Given the description of an element on the screen output the (x, y) to click on. 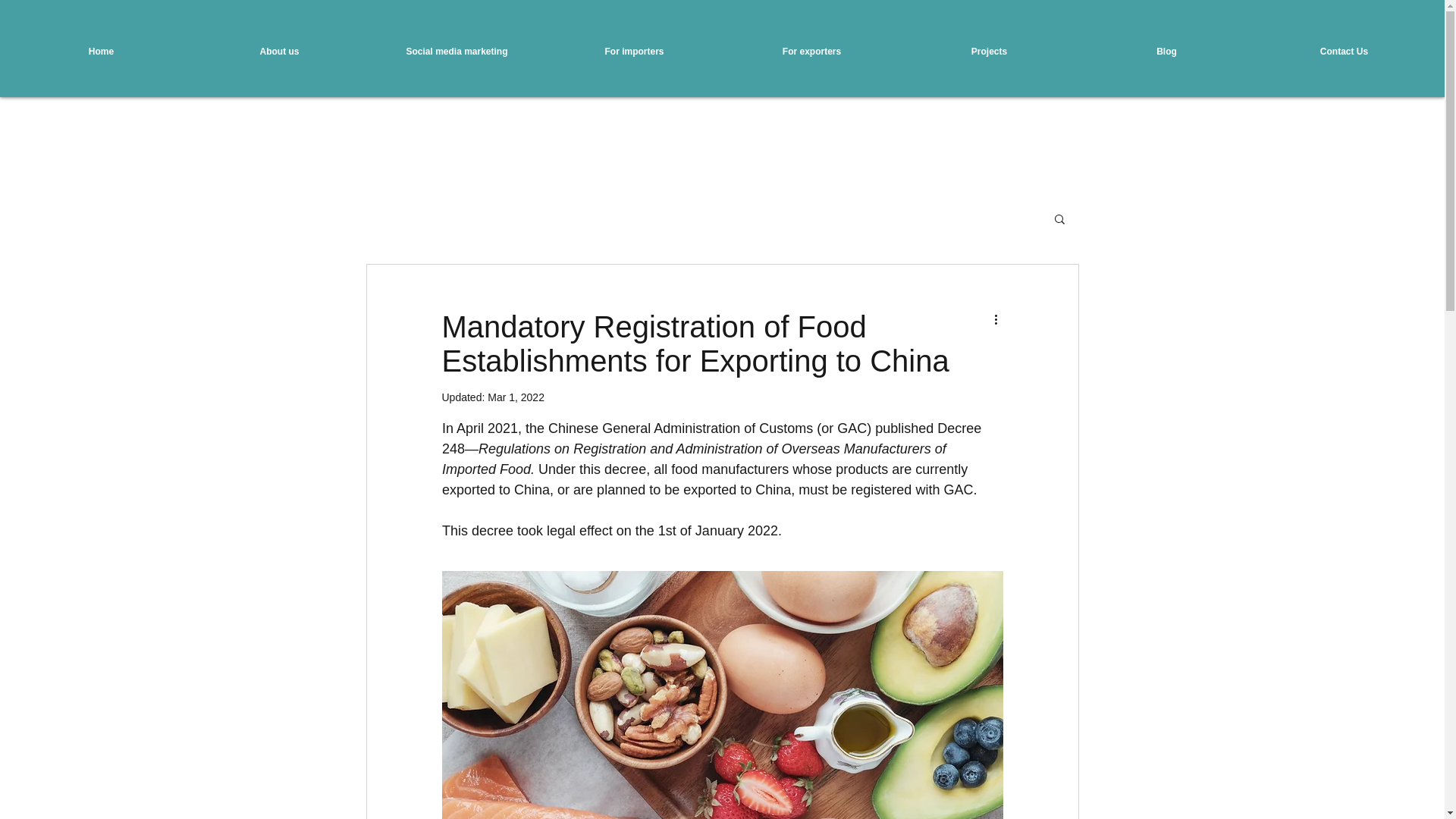
Projects (988, 51)
For importers (633, 51)
About us (279, 51)
Blog (1166, 51)
Contact Us (1343, 51)
Social media marketing (456, 51)
Mar 1, 2022 (515, 397)
Home (100, 51)
For exporters (810, 51)
